Given the description of an element on the screen output the (x, y) to click on. 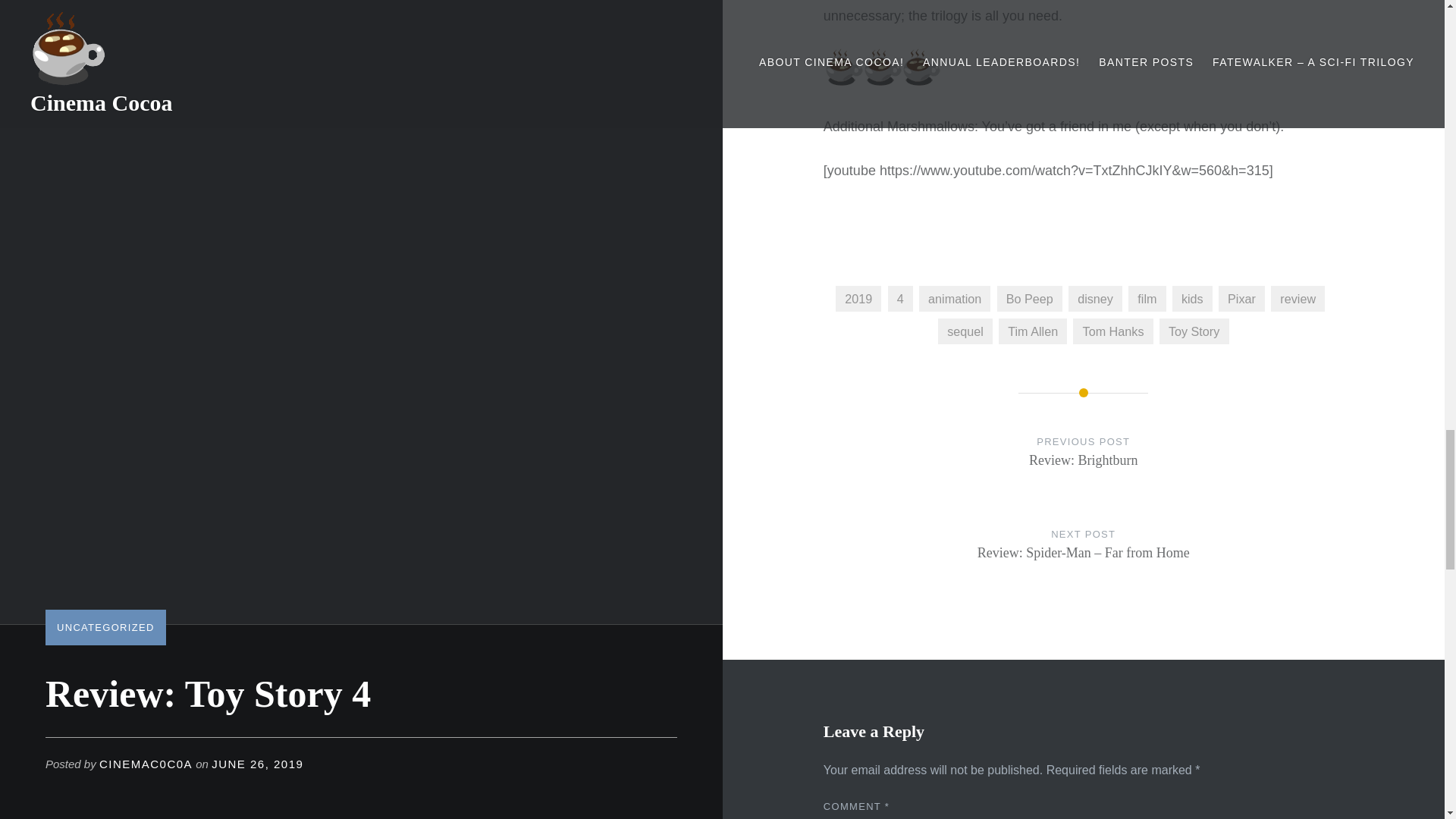
Pixar (1241, 298)
2019 (857, 298)
film (1147, 298)
sequel (964, 330)
4 (900, 298)
disney (1095, 298)
kids (1192, 298)
Toy Story (1193, 330)
Tim Allen (1032, 330)
Tom Hanks (1113, 330)
